Given the description of an element on the screen output the (x, y) to click on. 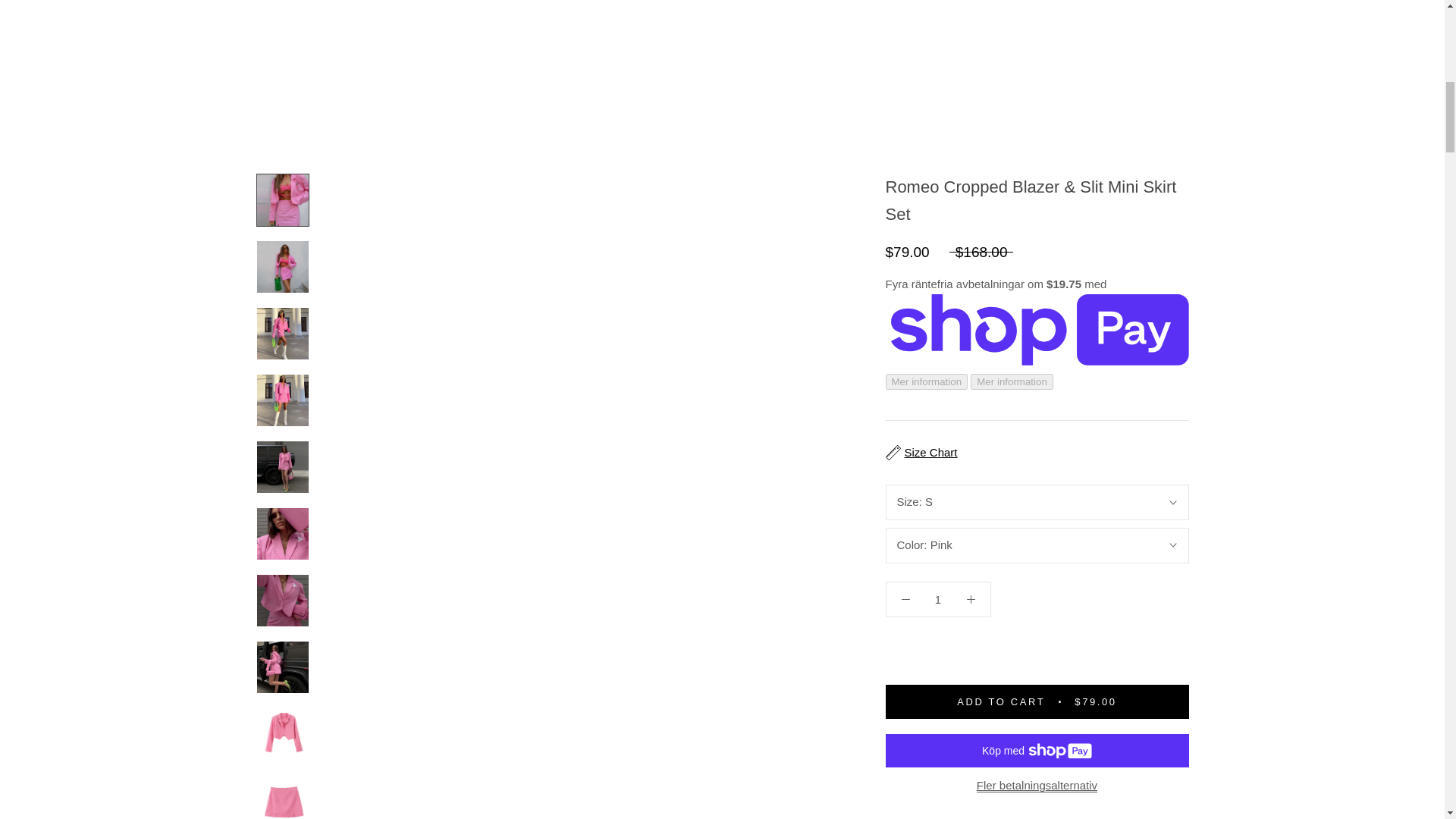
1 (938, 259)
